Given the description of an element on the screen output the (x, y) to click on. 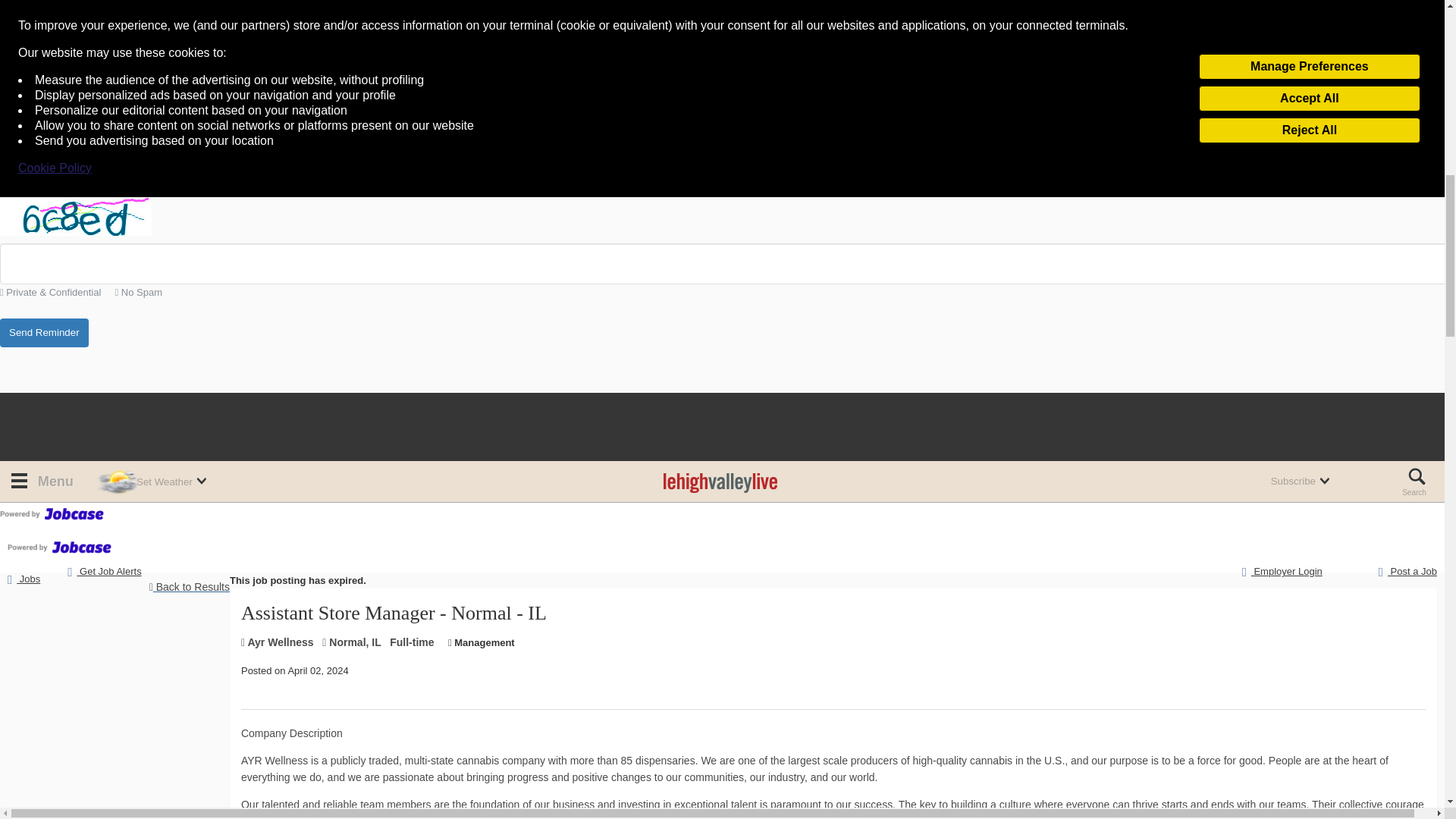
lehighvalleylive.com (720, 481)
lehighvalleylive.com (720, 481)
Menu (40, 481)
captcha (75, 216)
Send Reminder (44, 333)
